Given the description of an element on the screen output the (x, y) to click on. 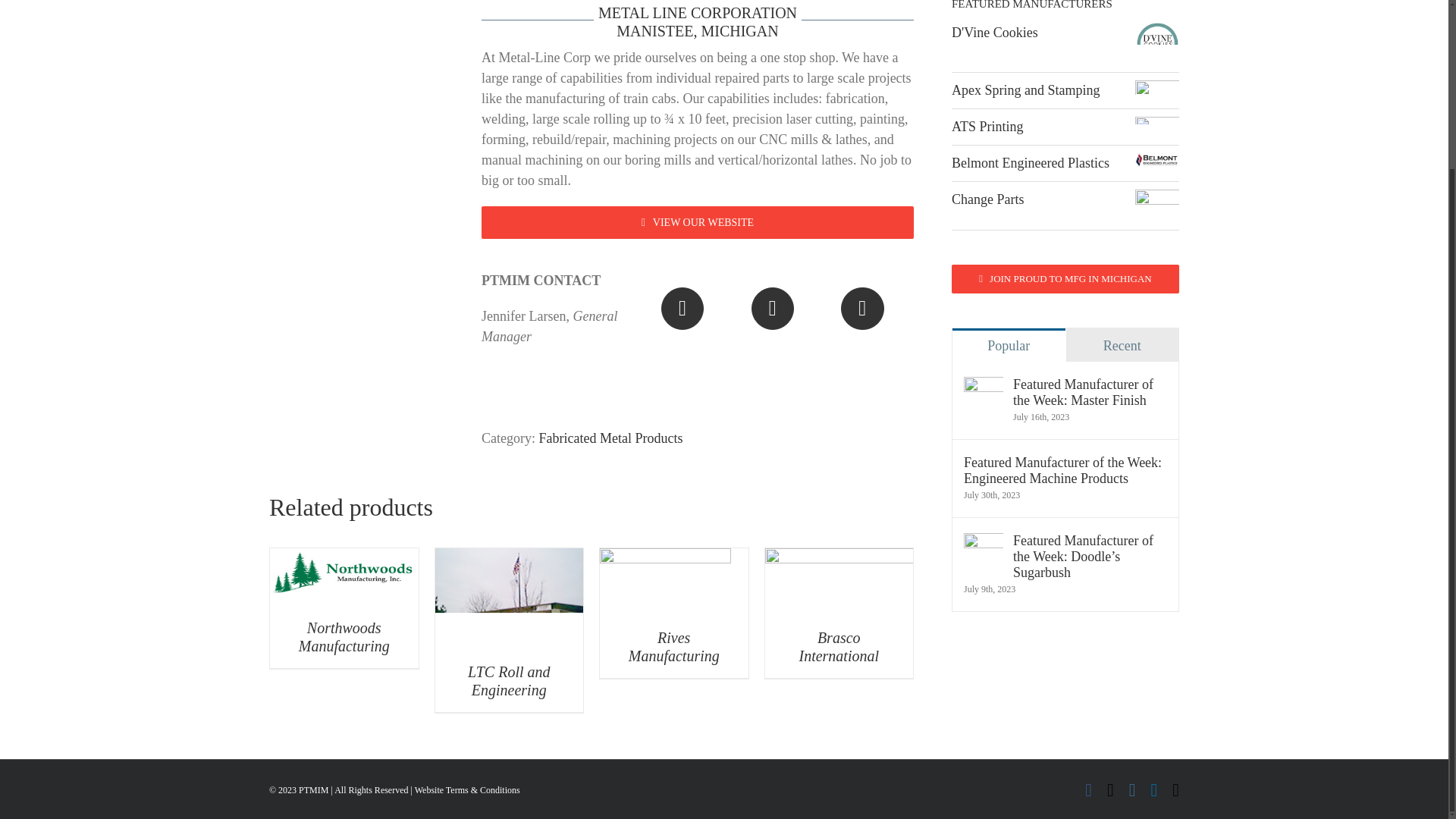
Northwoods Manufacturing (344, 636)
VIEW OUR WEBSITE (697, 222)
Fabricated Metal Products (610, 437)
